Given the description of an element on the screen output the (x, y) to click on. 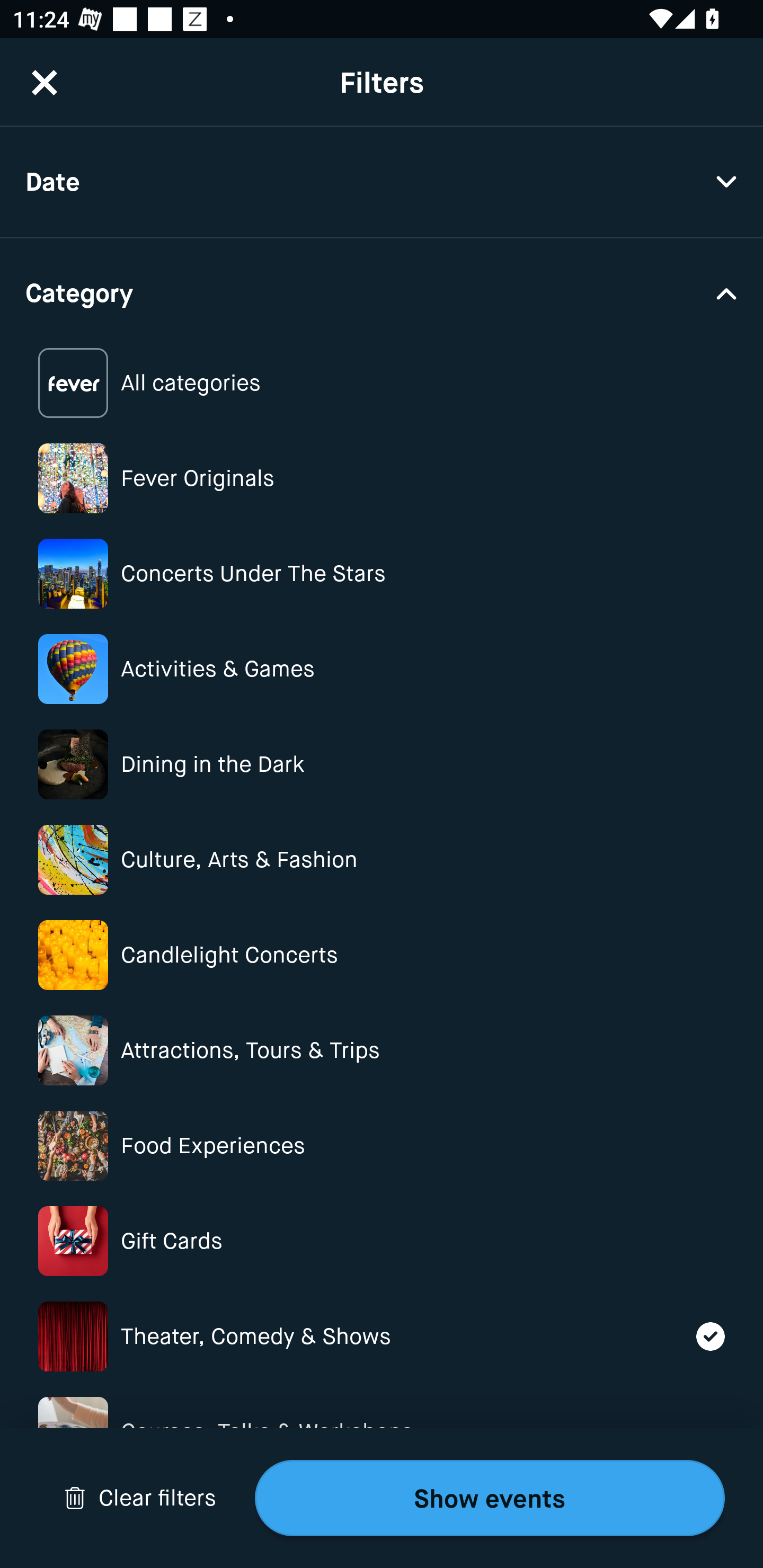
CloseButton (44, 82)
Date Drop Down Arrow (381, 182)
Category Drop Down Arrow (381, 291)
Category Image All categories (381, 382)
Category Image Fever Originals (381, 477)
Category Image Concerts Under The Stars (381, 573)
Category Image Activities & Games (381, 668)
Category Image Dining in the Dark (381, 763)
Category Image Culture, Arts & Fashion (381, 859)
Category Image Candlelight Concerts (381, 954)
Category Image Attractions, Tours & Trips (381, 1050)
Category Image Food Experiences (381, 1145)
Category Image Gift Cards (381, 1240)
Drop Down Arrow Clear filters (139, 1497)
Show events (489, 1497)
